Given the description of an element on the screen output the (x, y) to click on. 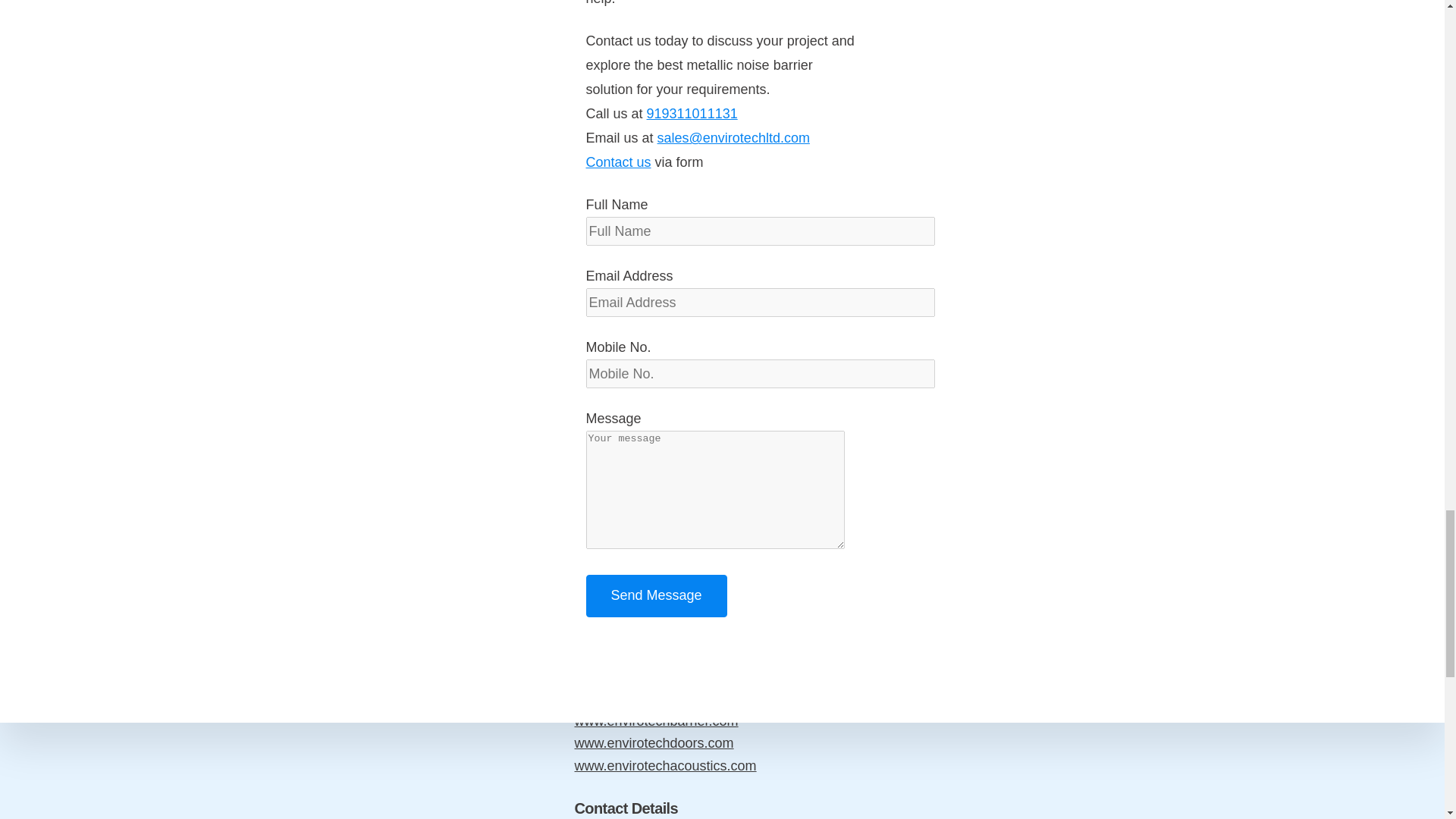
Send Message (655, 595)
